Given the description of an element on the screen output the (x, y) to click on. 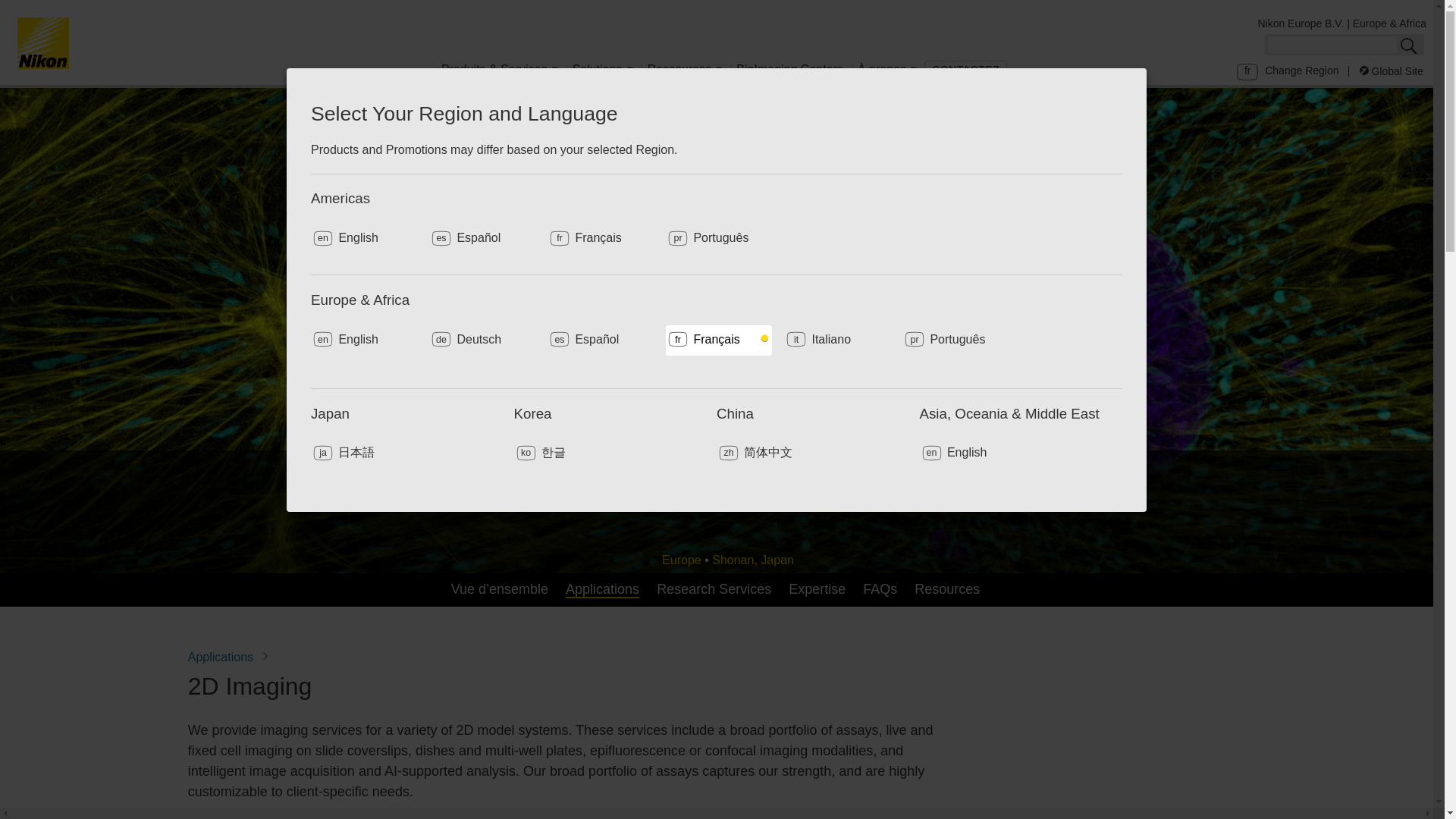
BioImaging Centers (789, 72)
Global Site (1391, 70)
Solutions (603, 72)
CONTACTEZ (965, 69)
Ressources (684, 72)
